Given the description of an element on the screen output the (x, y) to click on. 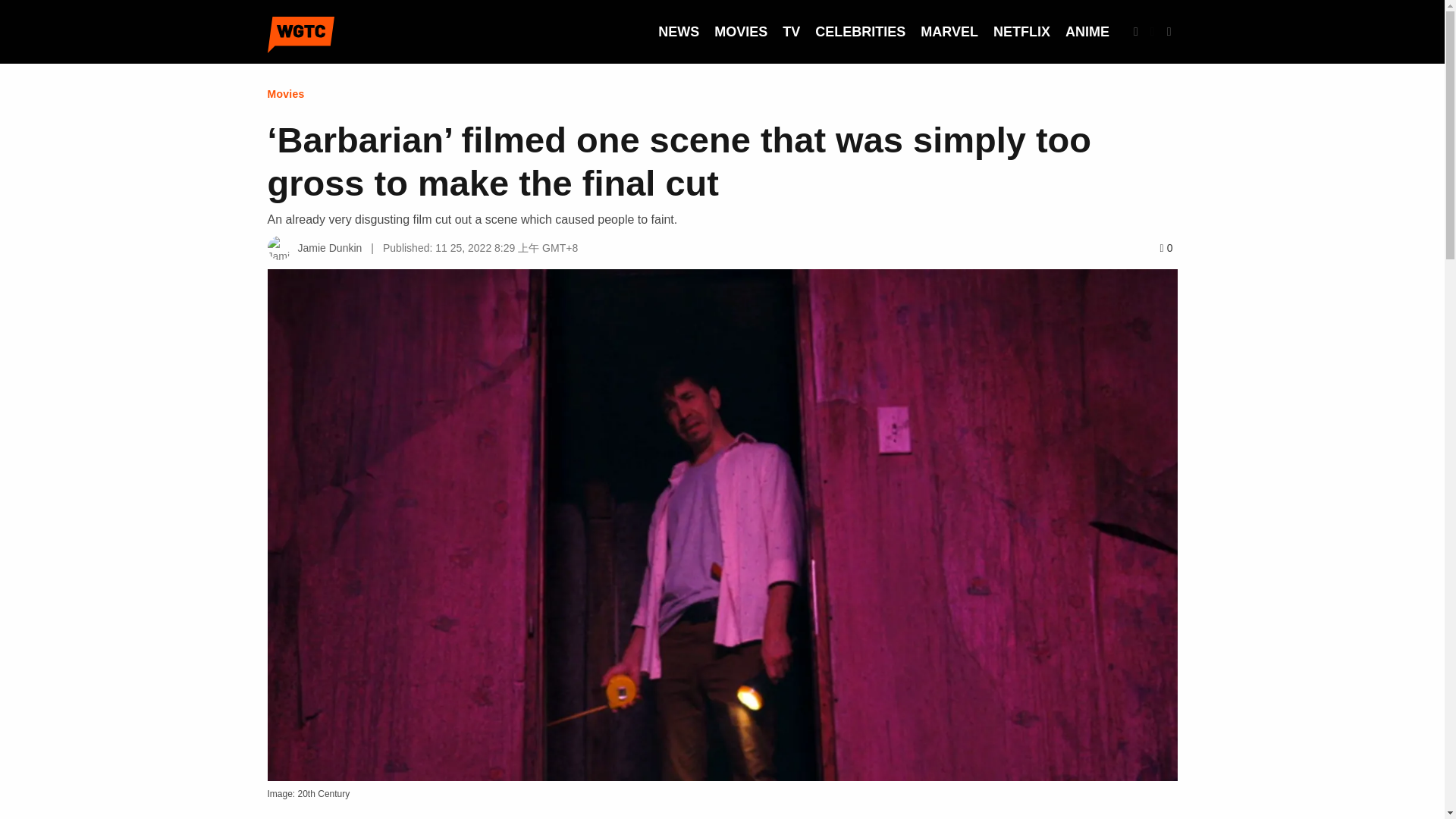
MOVIES (740, 31)
TV (791, 31)
ANIME (1087, 31)
NETFLIX (1020, 31)
MARVEL (949, 31)
CELEBRITIES (860, 31)
NEWS (678, 31)
